Given the description of an element on the screen output the (x, y) to click on. 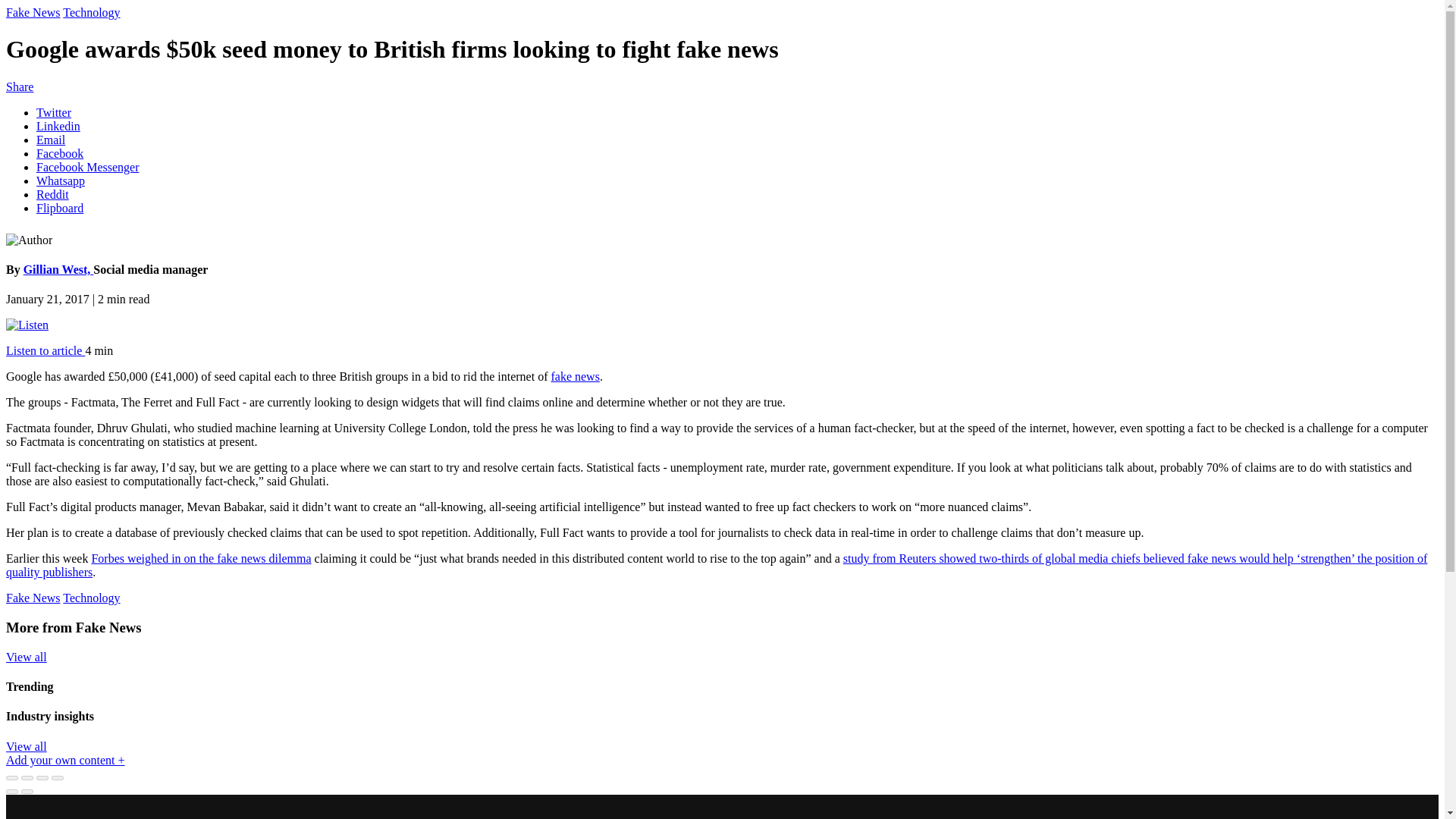
Twitter (53, 112)
Linkedin (58, 125)
Forbes weighed in on the fake news dilemma (200, 558)
Technology (90, 597)
Whatsapp (60, 180)
Listen to article (44, 350)
Share (27, 777)
View all (25, 746)
Share (19, 86)
